Given the description of an element on the screen output the (x, y) to click on. 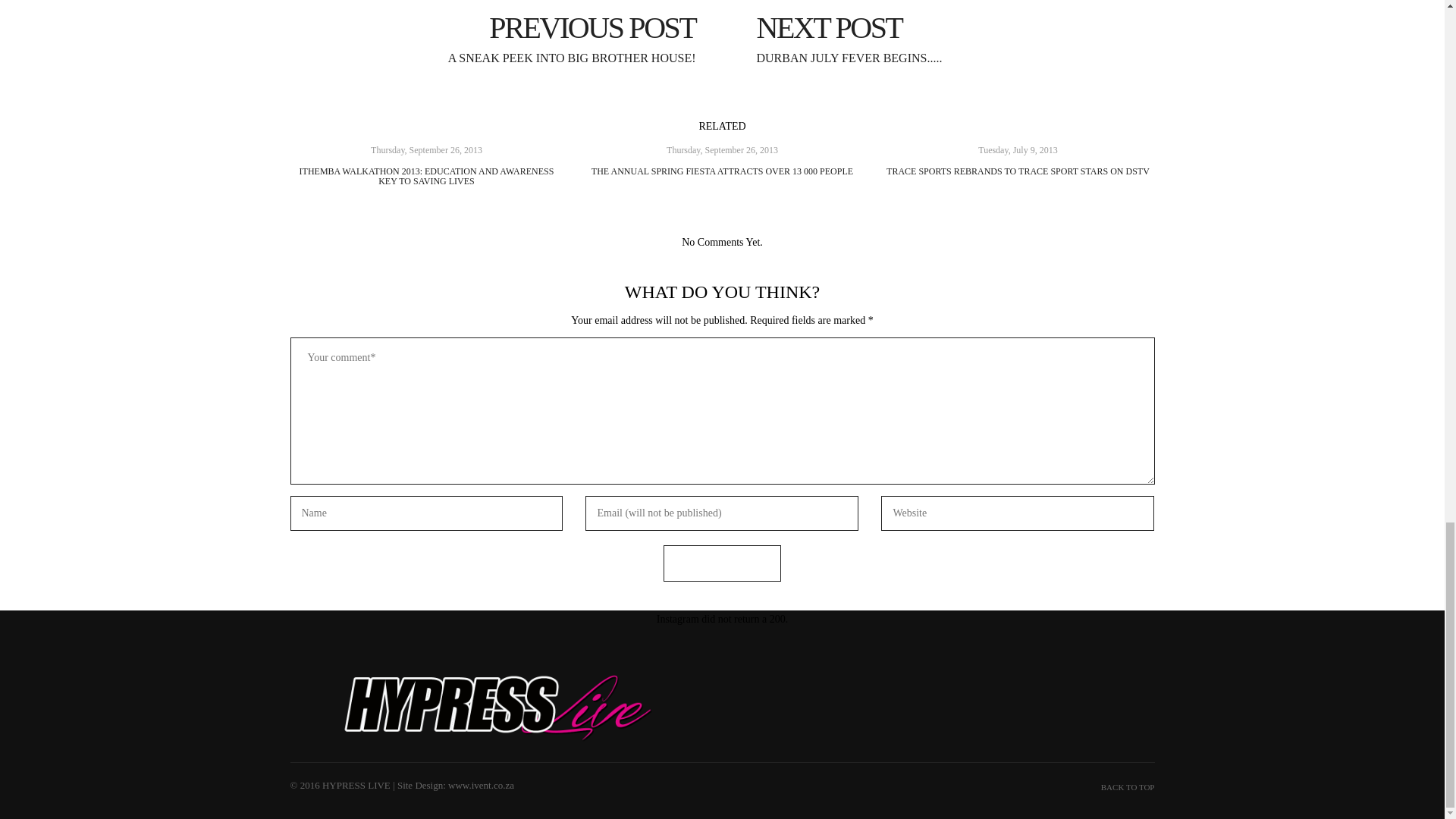
Post comment (721, 563)
THE ANNUAL SPRING FIESTA ATTRACTS OVER 13 000 PEOPLE (722, 171)
A SNEAK PEEK INTO BIG BROTHER HOUSE! (499, 37)
Post comment (943, 37)
DURBAN JULY FEVER BEGINS..... (721, 563)
BACK TO TOP (943, 37)
Lifestyle and Culture Destination (1127, 786)
